Given the description of an element on the screen output the (x, y) to click on. 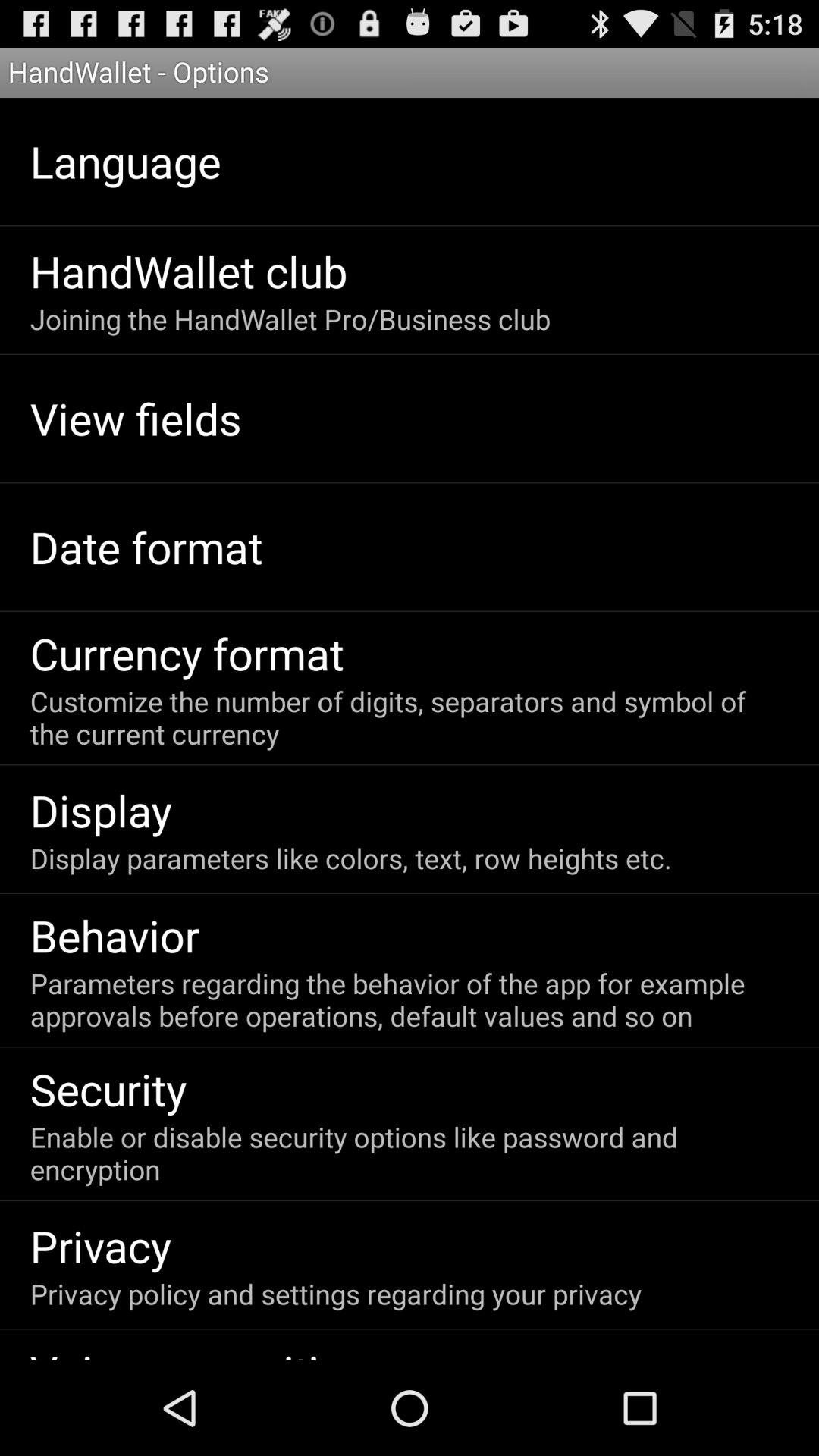
swipe to the voice recognition app (198, 1350)
